Given the description of an element on the screen output the (x, y) to click on. 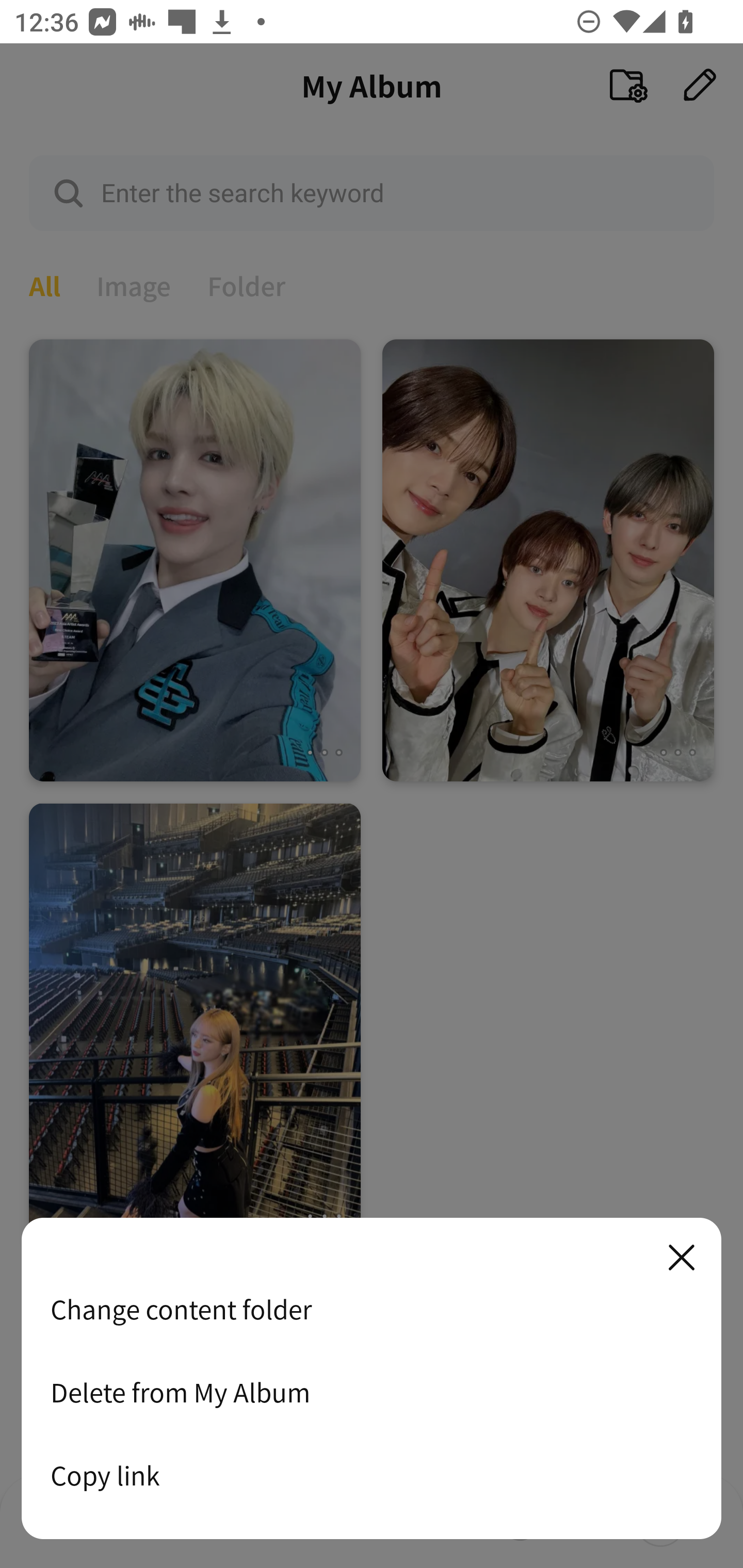
Change content folder (371, 1308)
Delete from My Album (371, 1391)
Copy link (371, 1474)
